Given the description of an element on the screen output the (x, y) to click on. 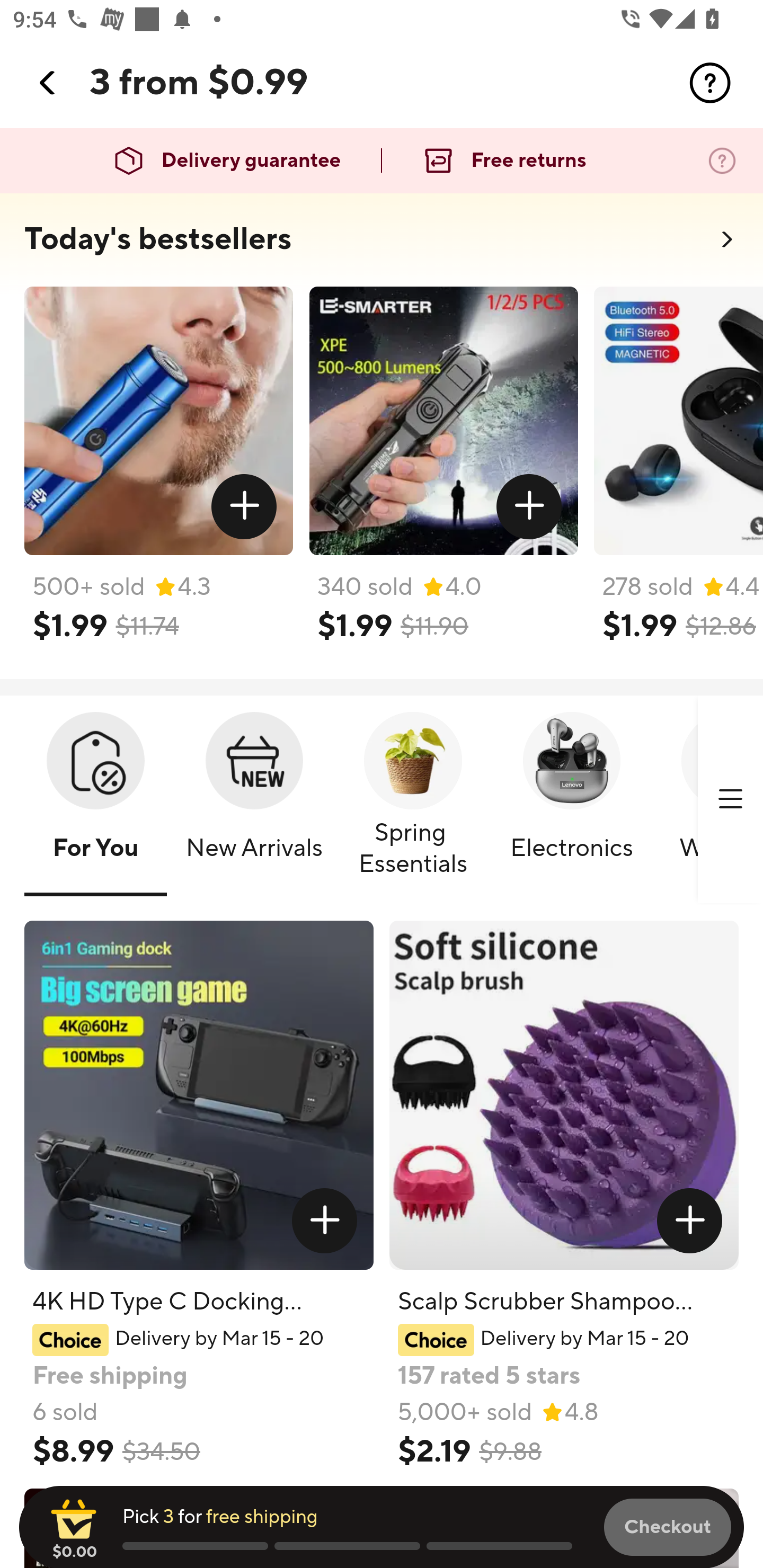
 (710, 82)
 (48, 82)
Today's bestsellers  Today's bestsellers  (381, 244)
Today's bestsellers (157, 239)
 (244, 506)
 (529, 506)
 (730, 799)
144x144.png_ For You (95, 800)
144x144.png_ New Arrivals (254, 800)
200x200.png_ Spring Essentials (412, 800)
300x300.png_ Electronics (571, 800)
 (323, 1220)
 (689, 1220)
